Given the description of an element on the screen output the (x, y) to click on. 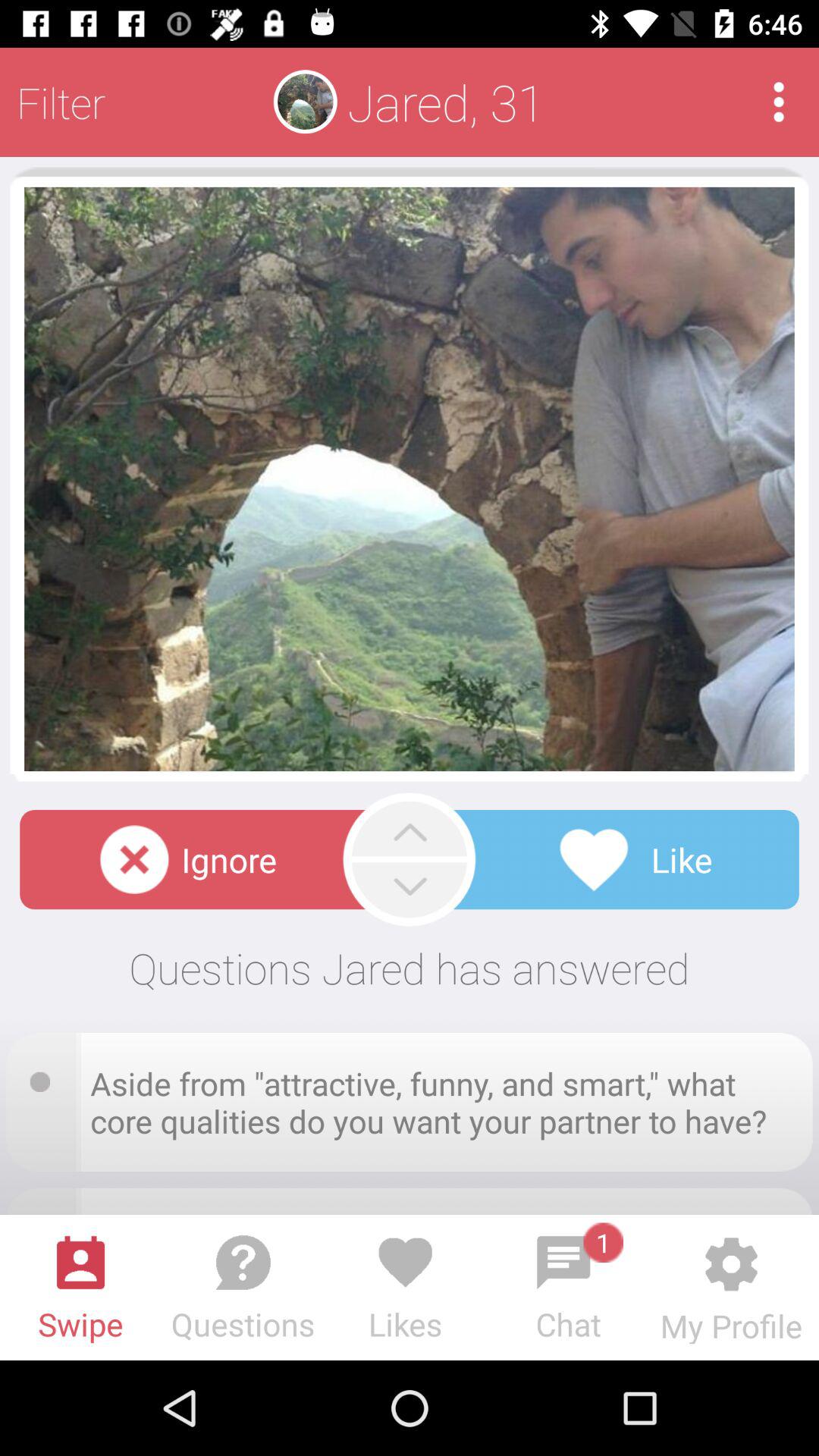
select icon next to the jared, 31 (778, 101)
